Given the description of an element on the screen output the (x, y) to click on. 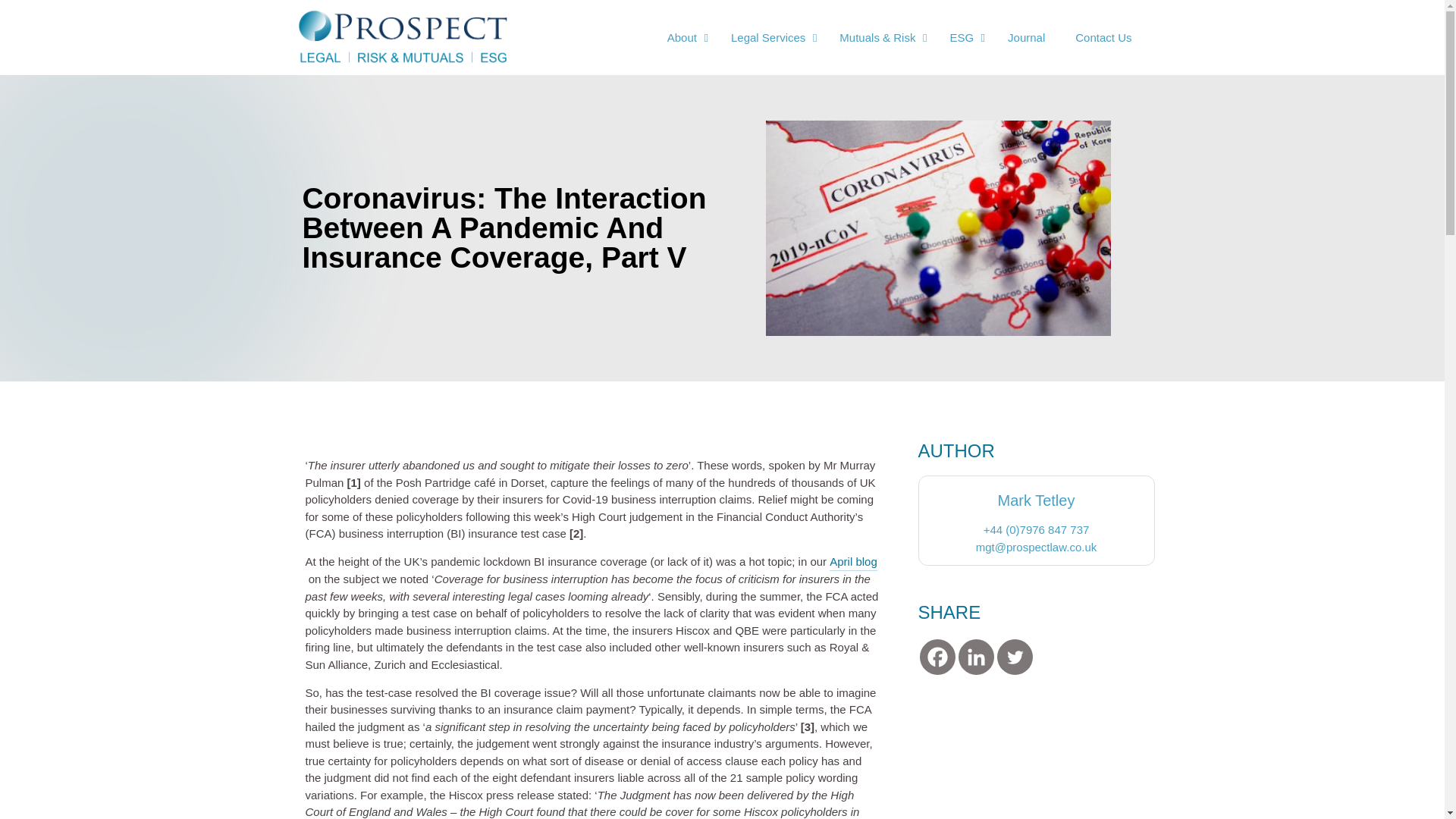
April blog (853, 562)
Linkedin (976, 656)
About (684, 37)
Legal Services (770, 37)
ESG (963, 37)
Twitter (1013, 656)
Contact Us (1103, 37)
Facebook (936, 656)
Journal (1025, 37)
